Given the description of an element on the screen output the (x, y) to click on. 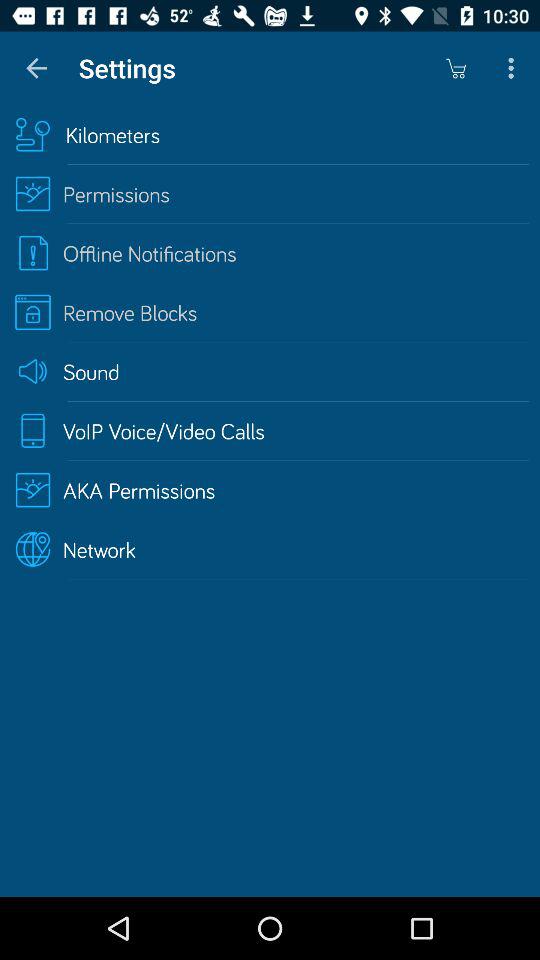
turn off app to the right of settings icon (455, 67)
